Given the description of an element on the screen output the (x, y) to click on. 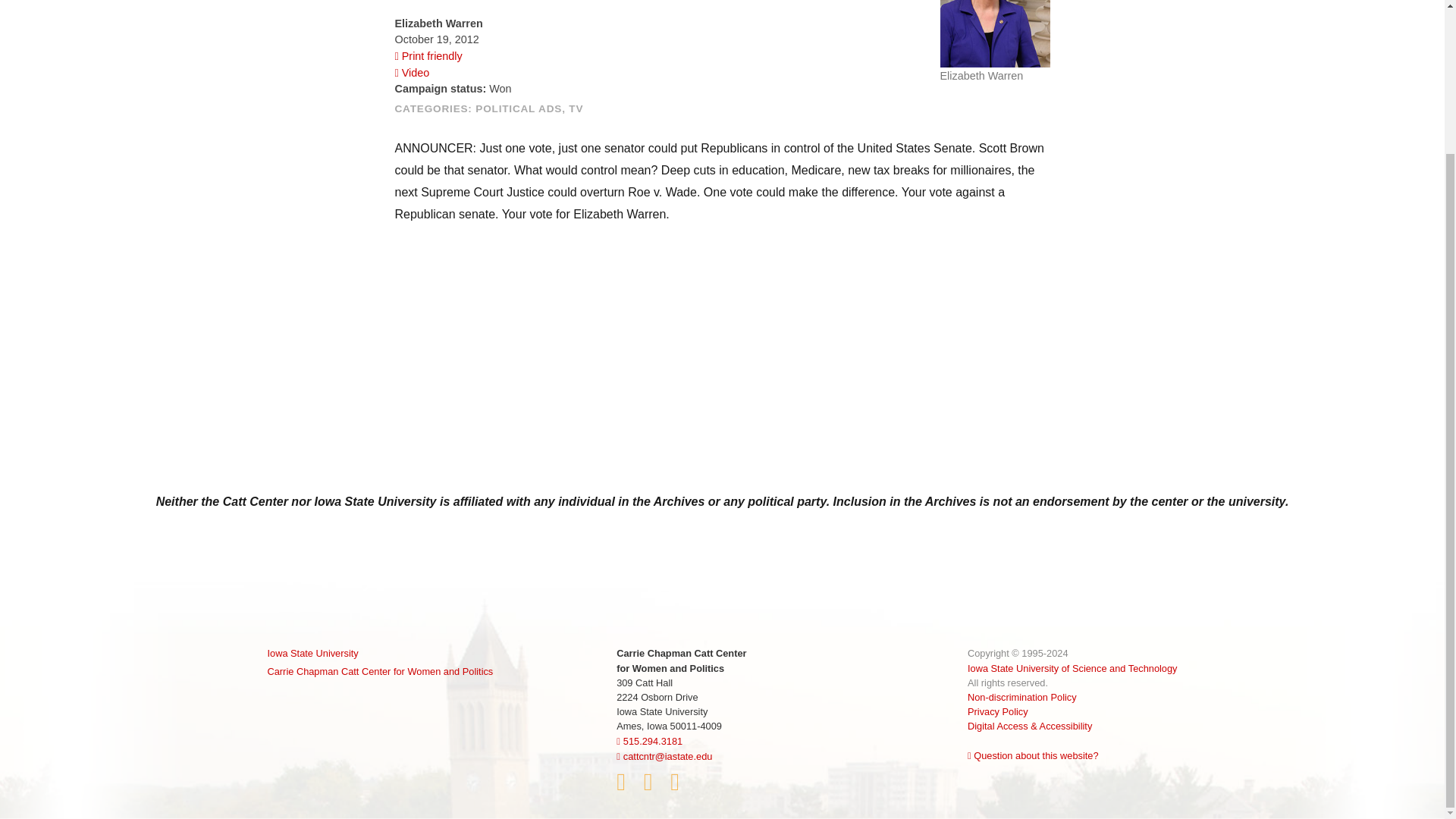
Elizabeth  Warren (994, 33)
Print friendly (427, 55)
Video (411, 72)
POLITICAL ADS (519, 108)
515.294.3181 (648, 740)
Privacy Policy (997, 711)
Iowa State University of Science and Technology (1072, 668)
TV (576, 108)
Carrie Chapman Catt Center for Women and Politics (379, 671)
Elizabeth Warren (994, 41)
Question about this website? (1033, 755)
Iowa State University (379, 653)
Non-discrimination Policy (1022, 696)
